Given the description of an element on the screen output the (x, y) to click on. 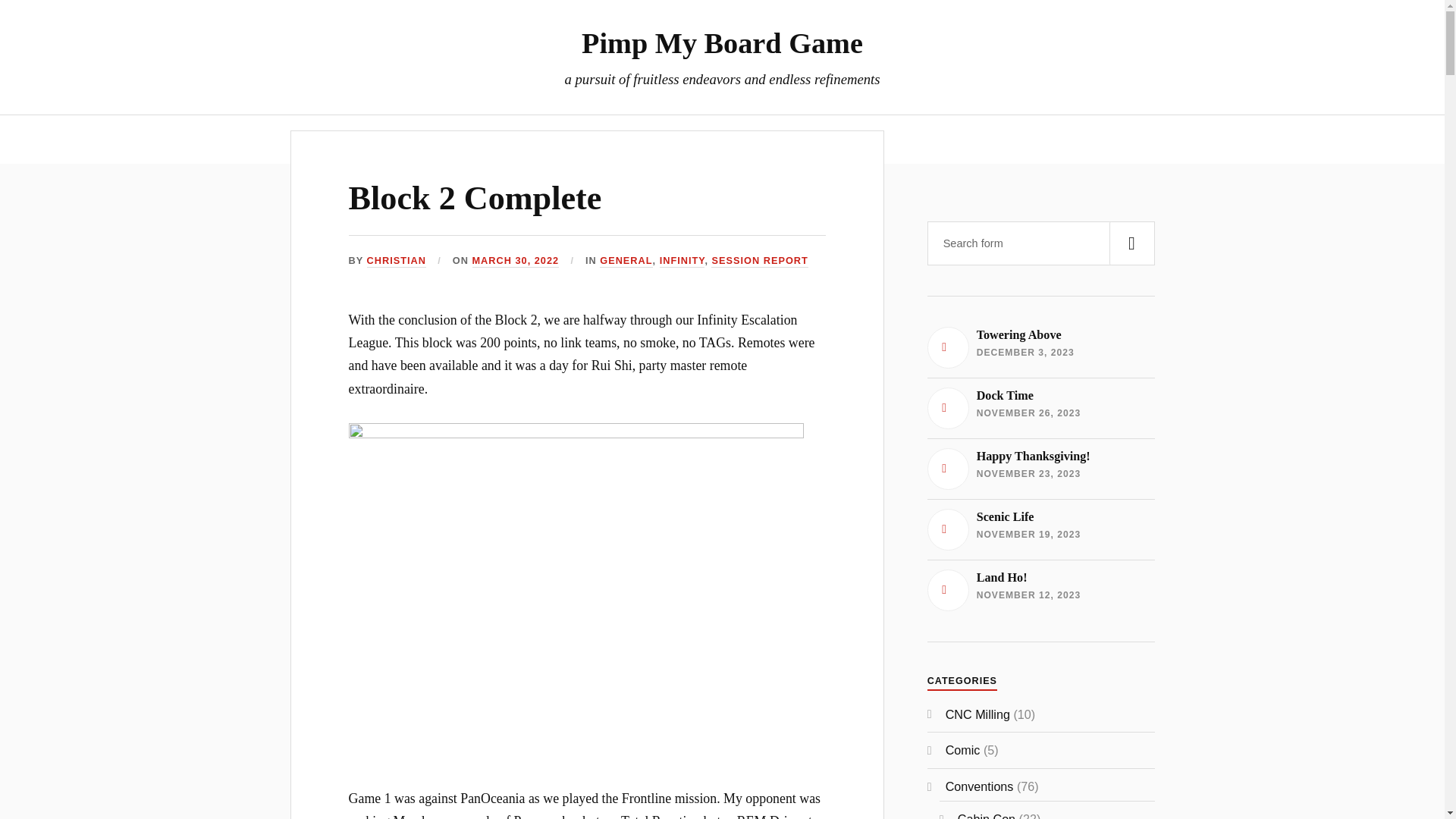
INFINITY (1040, 347)
Block 2 Complete (681, 260)
GENERAL (475, 198)
CHRISTIAN (625, 260)
Posts by Christian (396, 260)
Pimp My Board Game (396, 260)
SESSION REPORT (721, 42)
Downloads (759, 260)
MARCH 30, 2022 (825, 138)
